Given the description of an element on the screen output the (x, y) to click on. 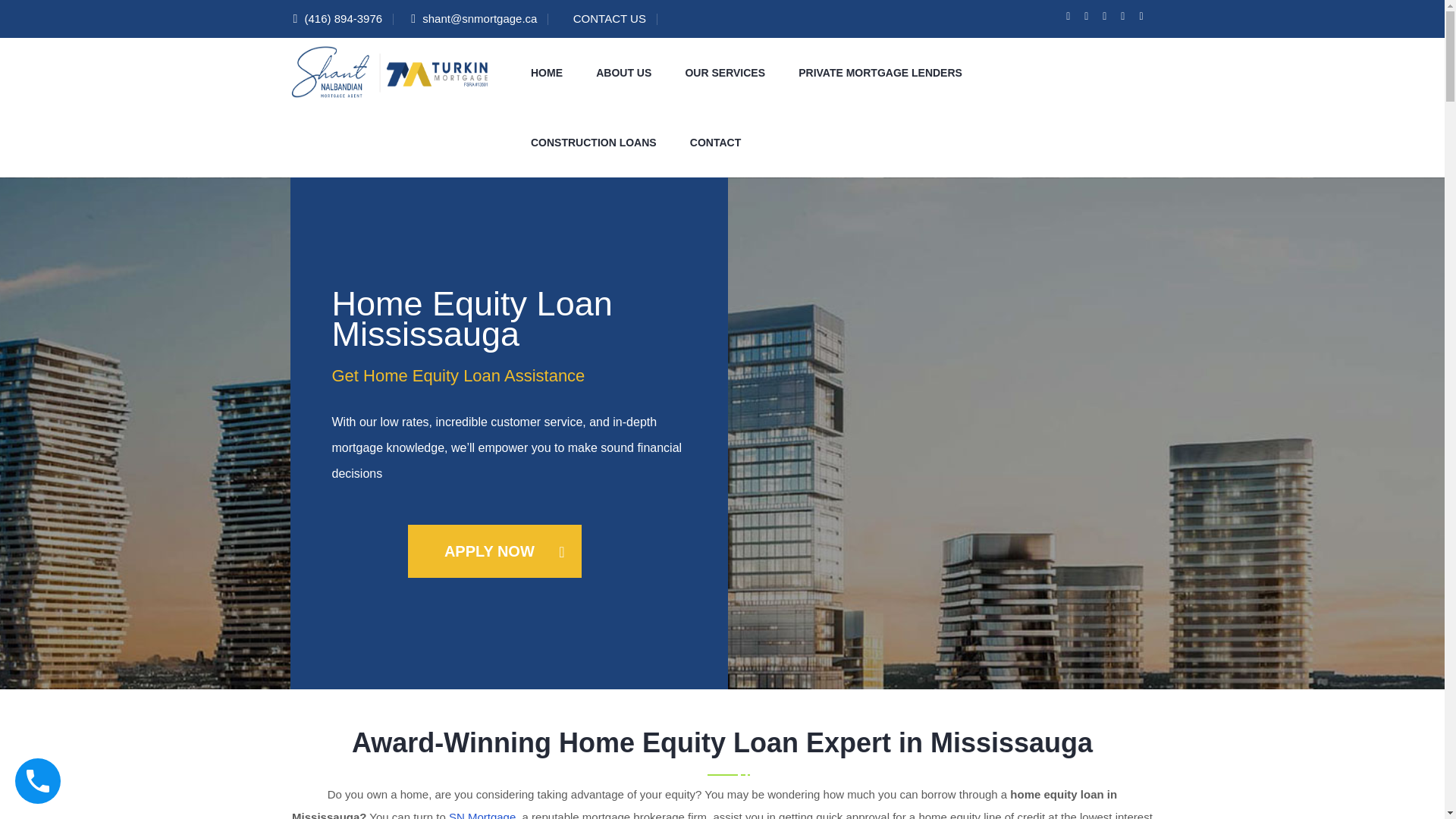
ABOUT US (623, 72)
APPLY NOW (482, 551)
PRIVATE MORTGAGE LENDERS (880, 72)
CONTACT (715, 142)
SN Mortgage (481, 814)
CONSTRUCTION LOANS (593, 142)
OUR SERVICES (724, 72)
